Given the description of an element on the screen output the (x, y) to click on. 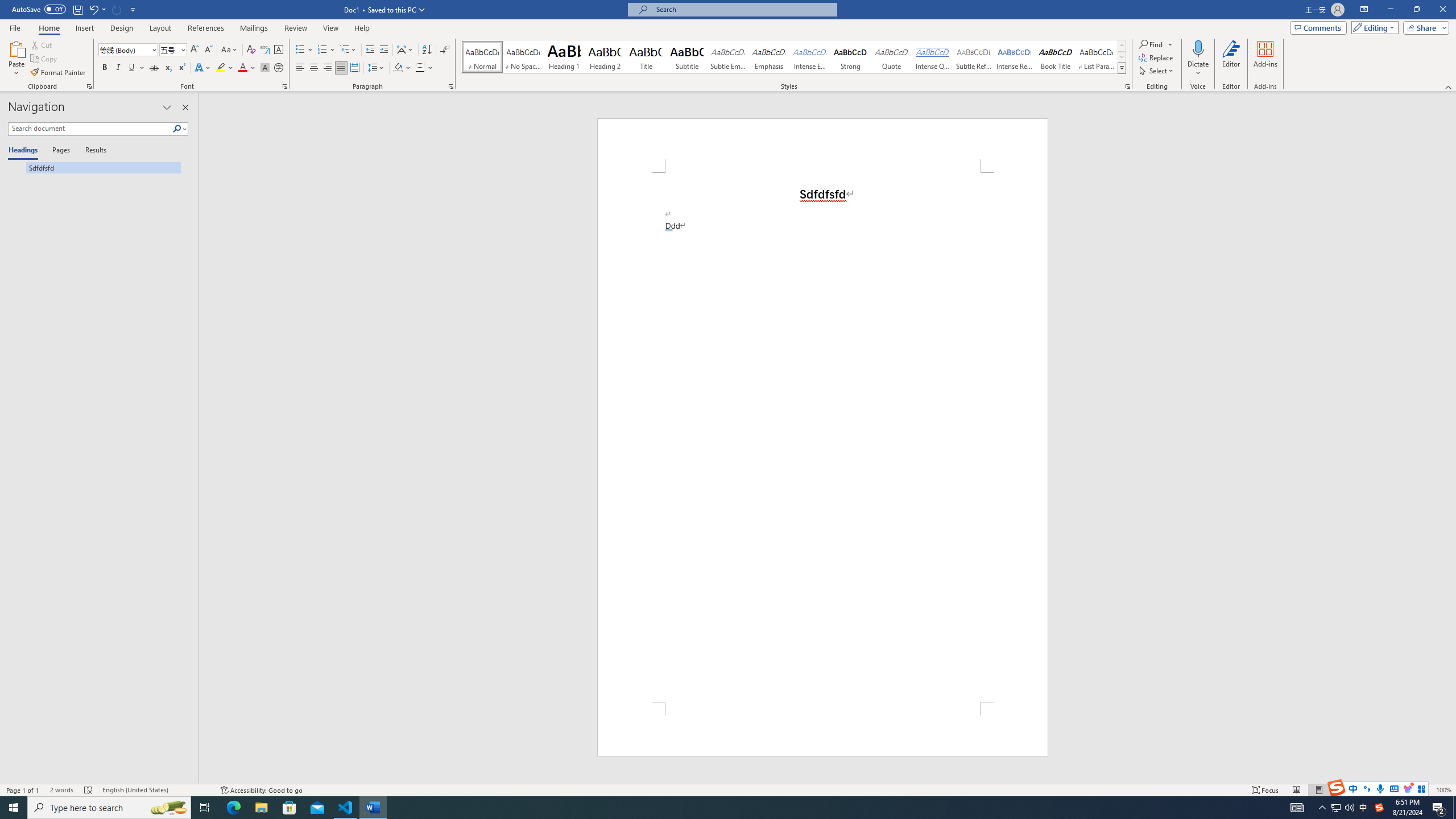
Design (122, 28)
Book Title (1055, 56)
Borders (424, 67)
Editor (1231, 58)
Strong (849, 56)
Justify (340, 67)
Enclose Characters... (278, 67)
Close pane (185, 107)
Focus  (1265, 790)
Web Layout (1342, 790)
Can't Repeat (117, 9)
Character Border (278, 49)
Open (182, 49)
Action: Undo Auto Actions (668, 229)
